Given the description of an element on the screen output the (x, y) to click on. 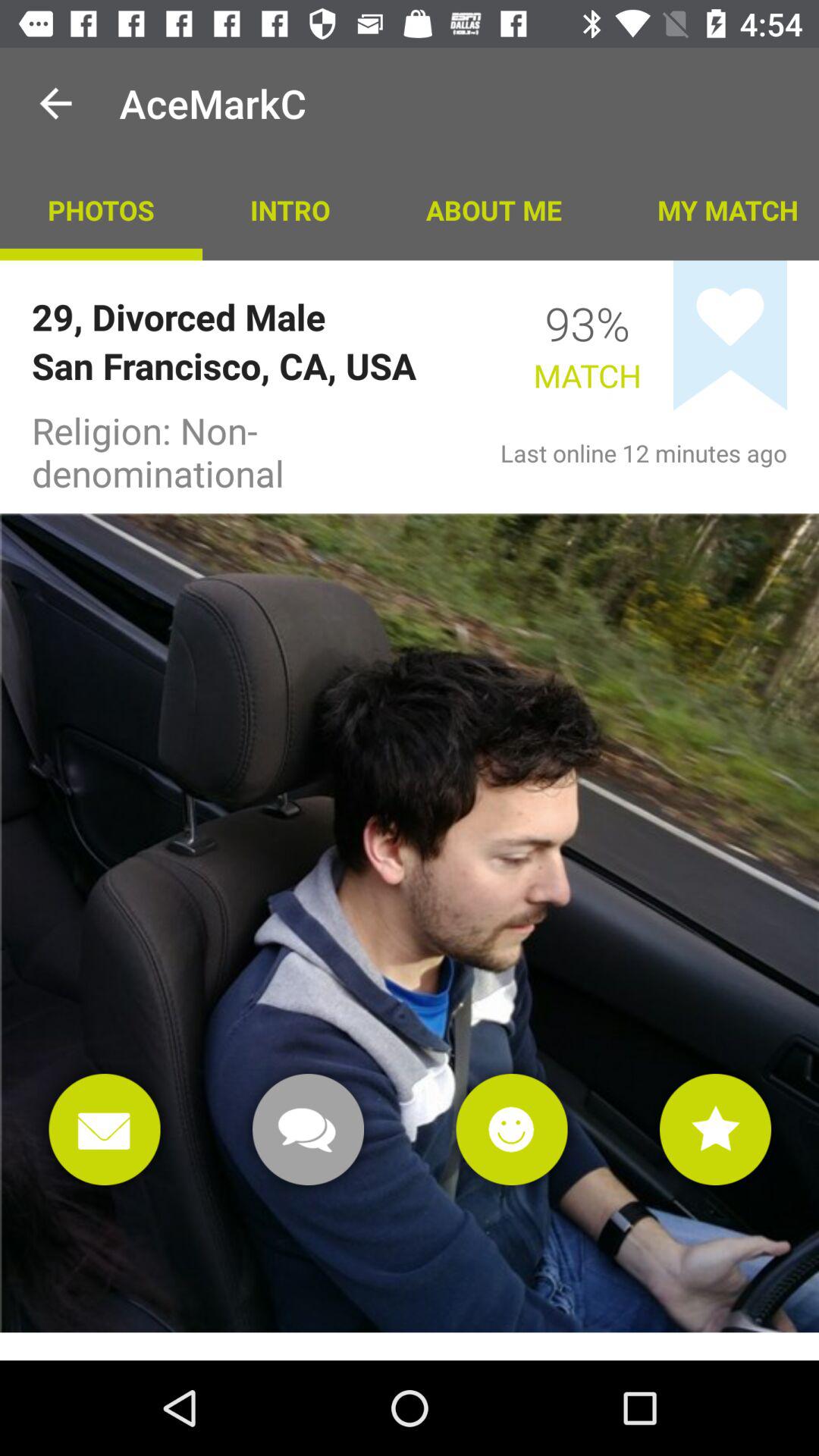
select icon next to about me icon (714, 209)
